Given the description of an element on the screen output the (x, y) to click on. 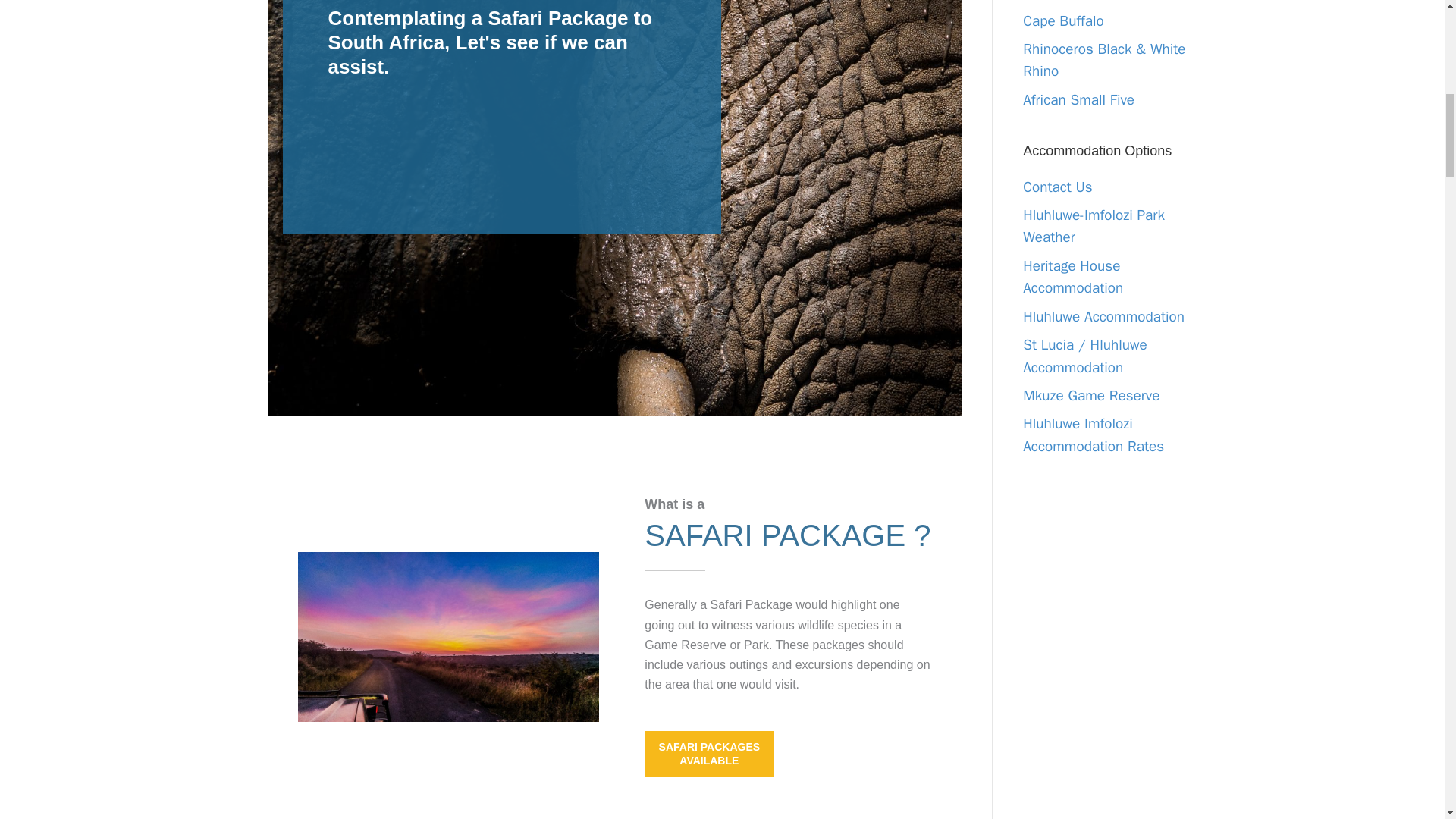
2 night south africa safari big 5 package (447, 636)
SAFARI PACKAGES AVAILABLE (709, 753)
Click Here (709, 753)
